Given the description of an element on the screen output the (x, y) to click on. 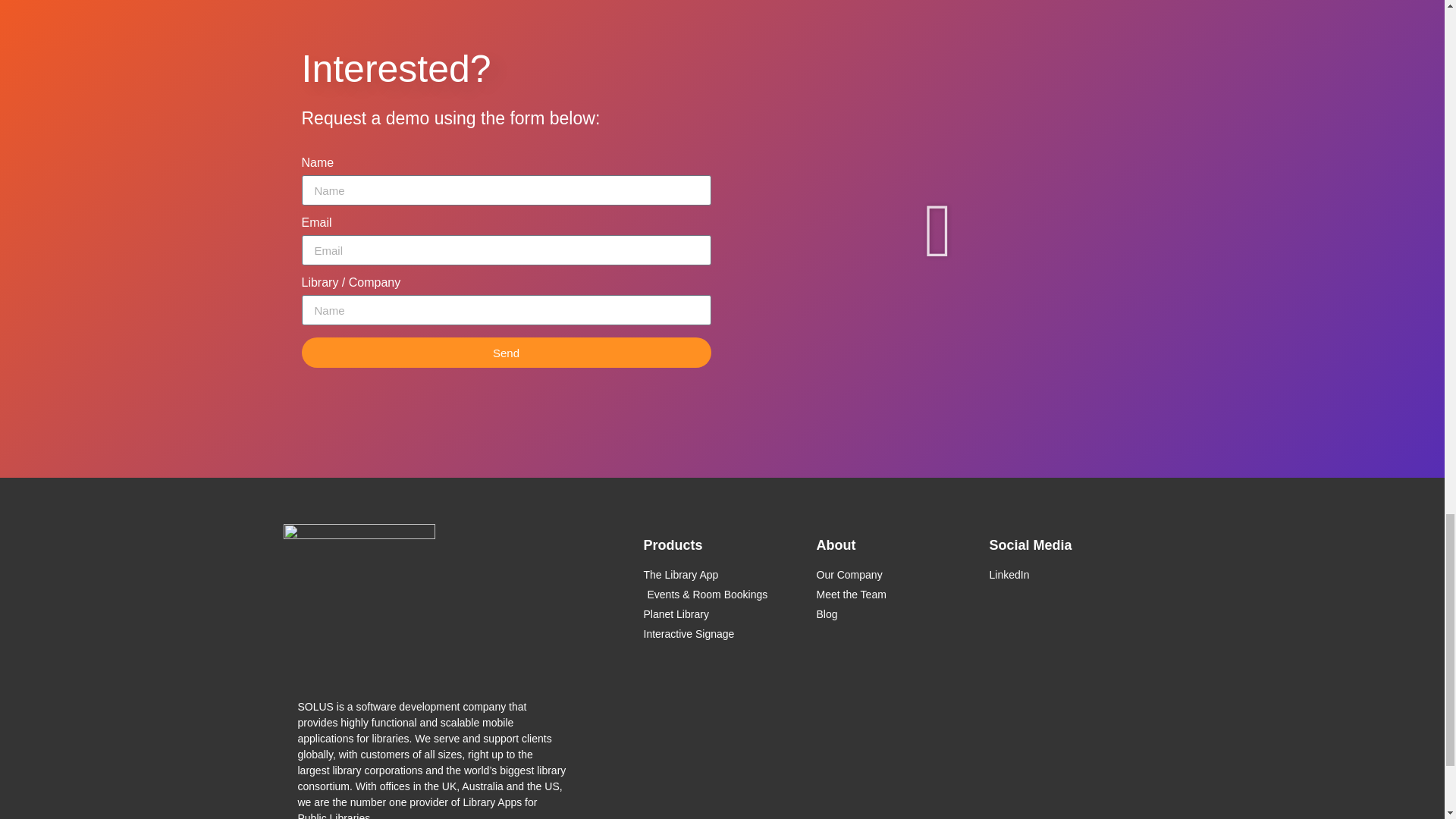
Send (506, 352)
